Given the description of an element on the screen output the (x, y) to click on. 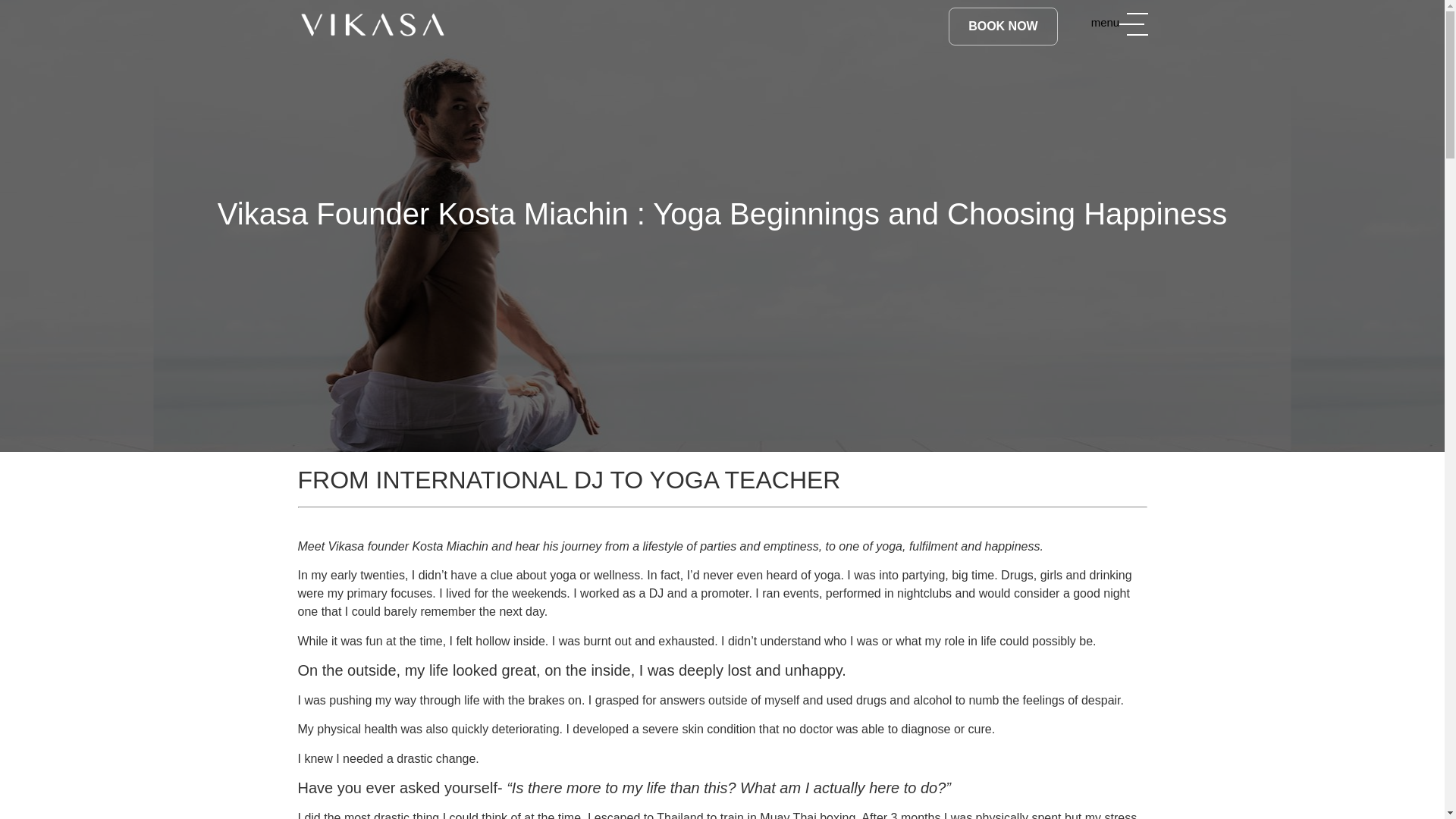
menu (1117, 22)
BOOK NOW (1003, 26)
